Given the description of an element on the screen output the (x, y) to click on. 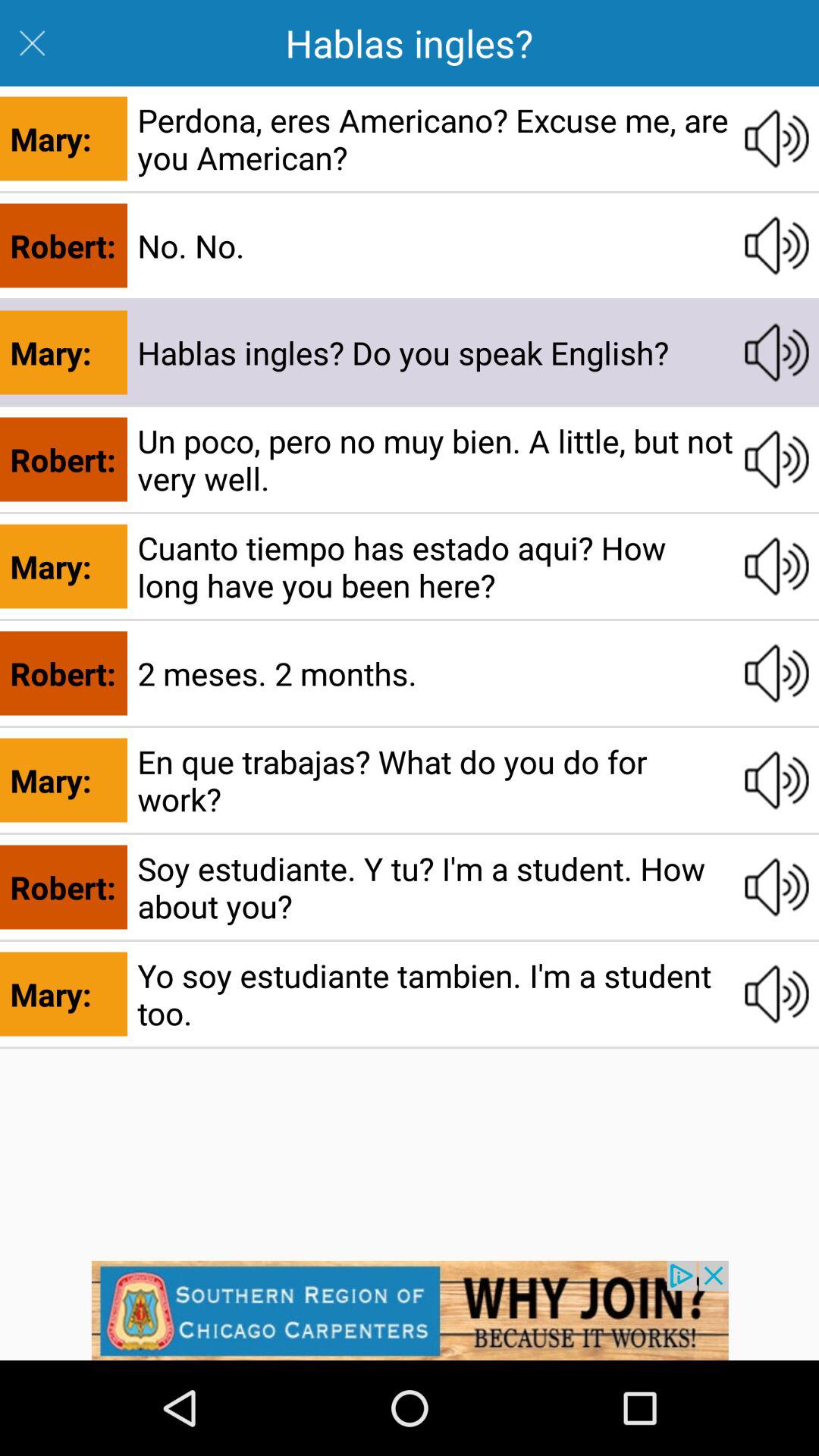
go to music (776, 994)
